Given the description of an element on the screen output the (x, y) to click on. 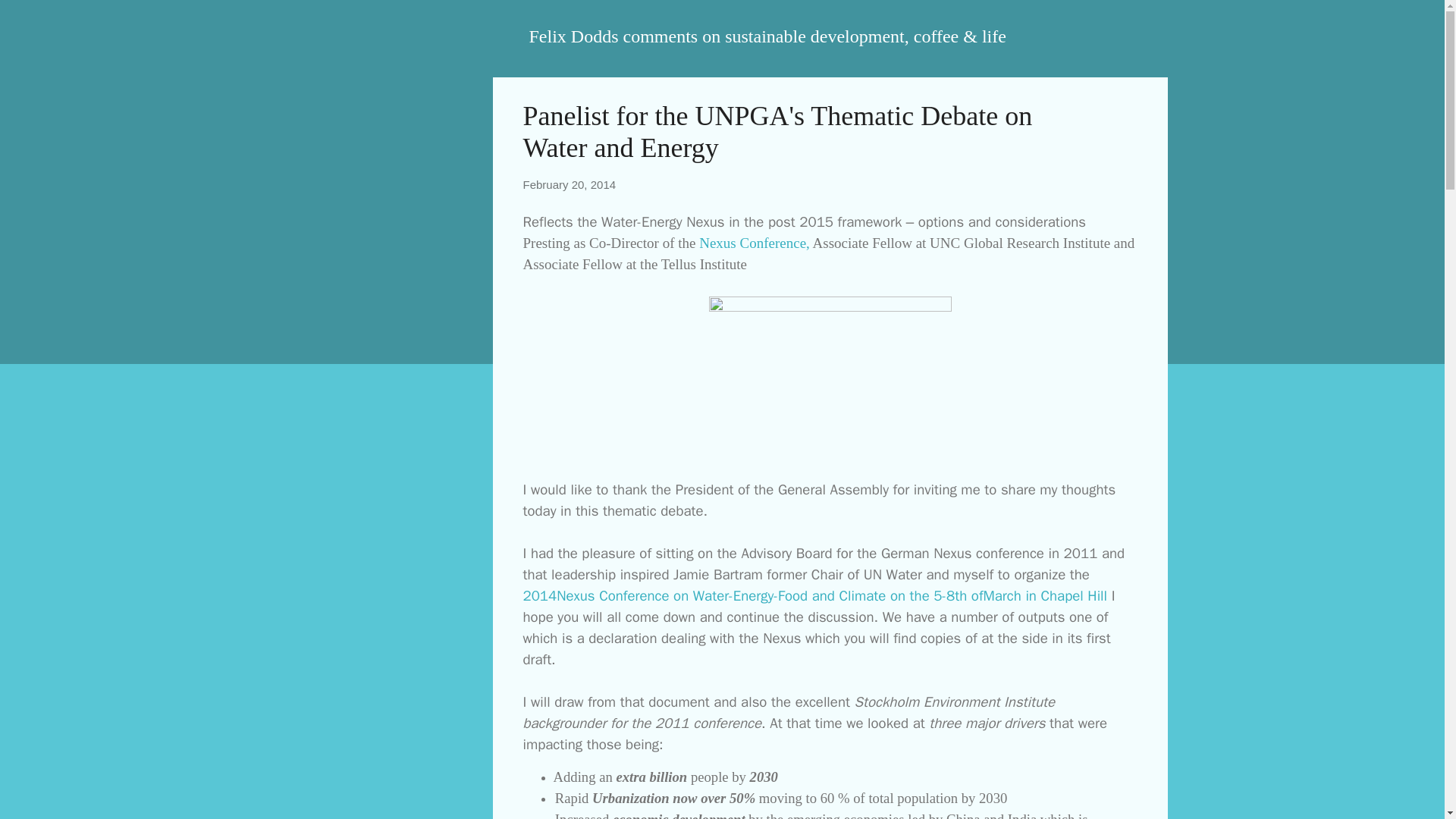
Nexus Conference, (753, 242)
Search (29, 18)
permanent link (568, 184)
February 20, 2014 (568, 184)
